Given the description of an element on the screen output the (x, y) to click on. 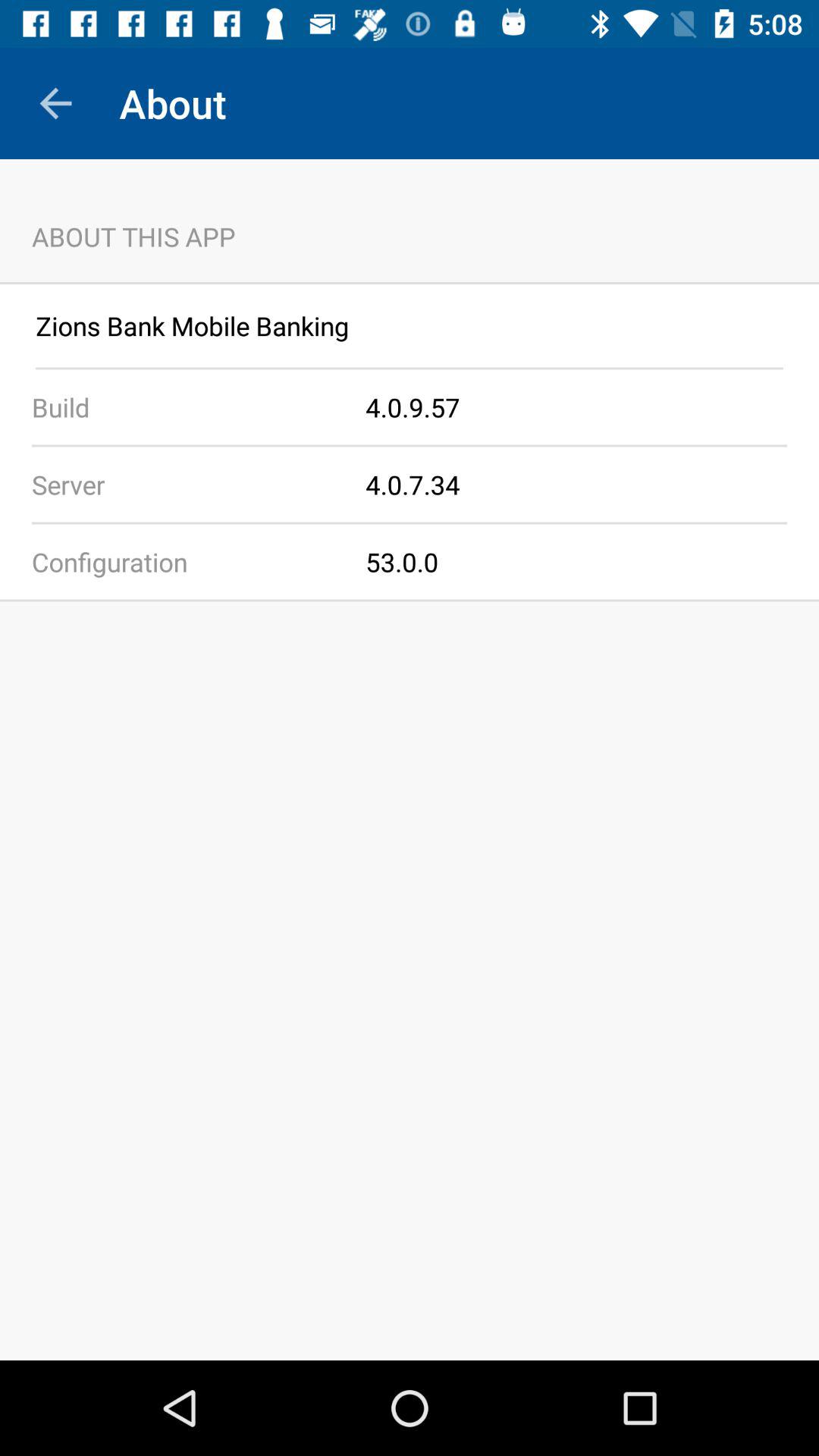
turn on the item to the left of the 4 0 7 app (182, 484)
